Given the description of an element on the screen output the (x, y) to click on. 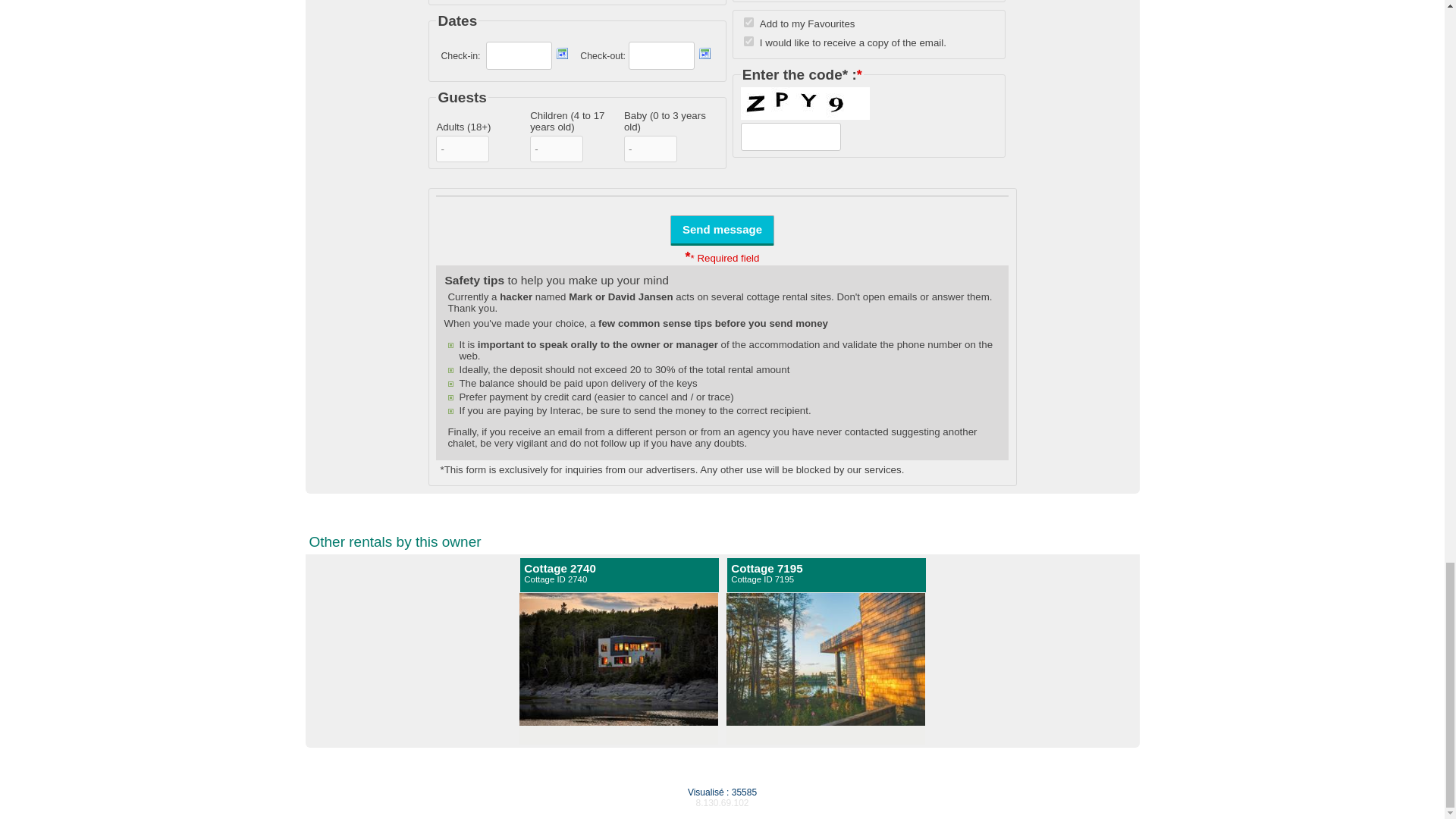
Send message (620, 572)
Send message (721, 229)
on (721, 229)
on (749, 22)
